Given the description of an element on the screen output the (x, y) to click on. 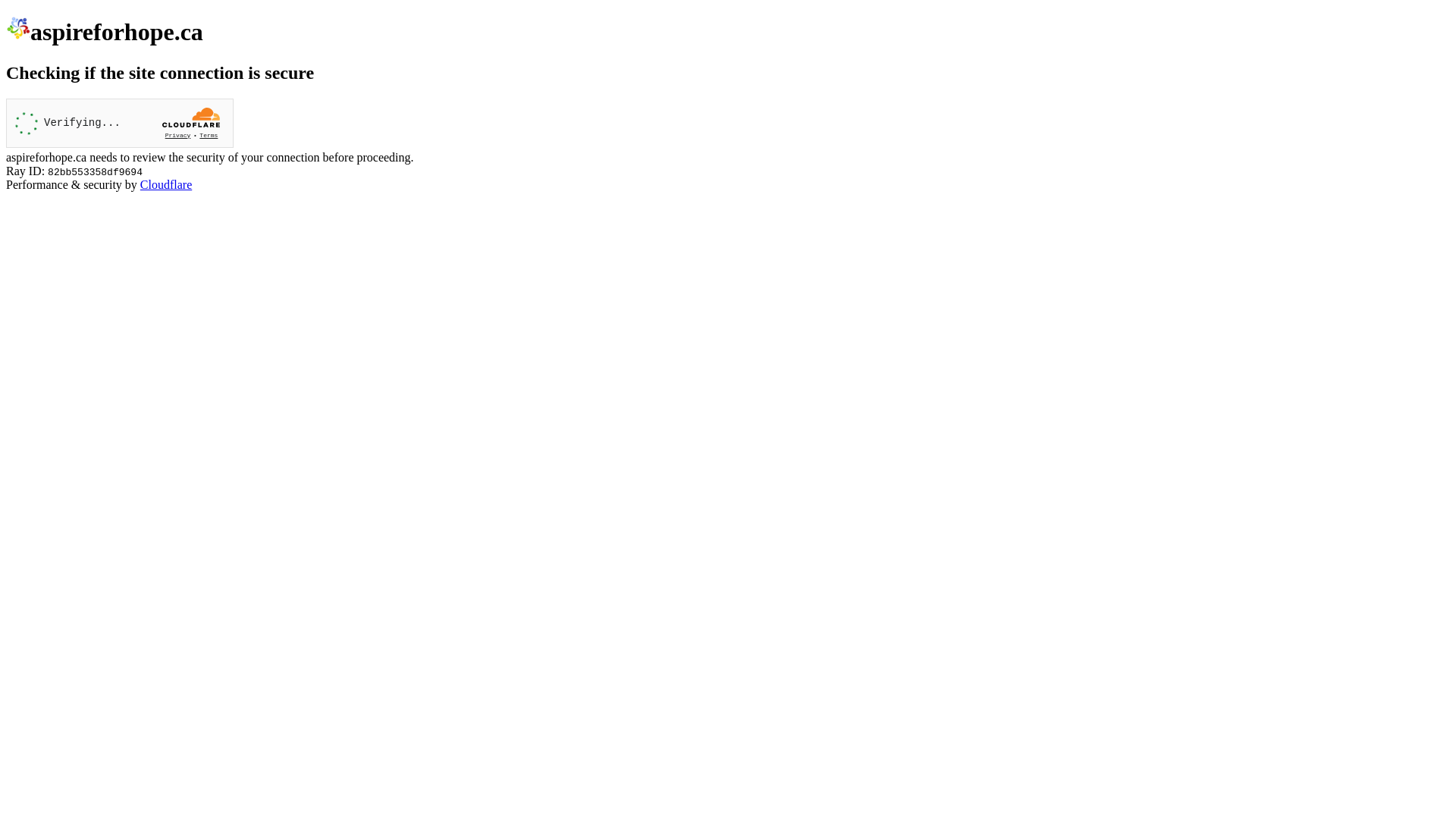
Cloudflare Element type: text (165, 184)
Widget containing a Cloudflare security challenge Element type: hover (119, 122)
